Given the description of an element on the screen output the (x, y) to click on. 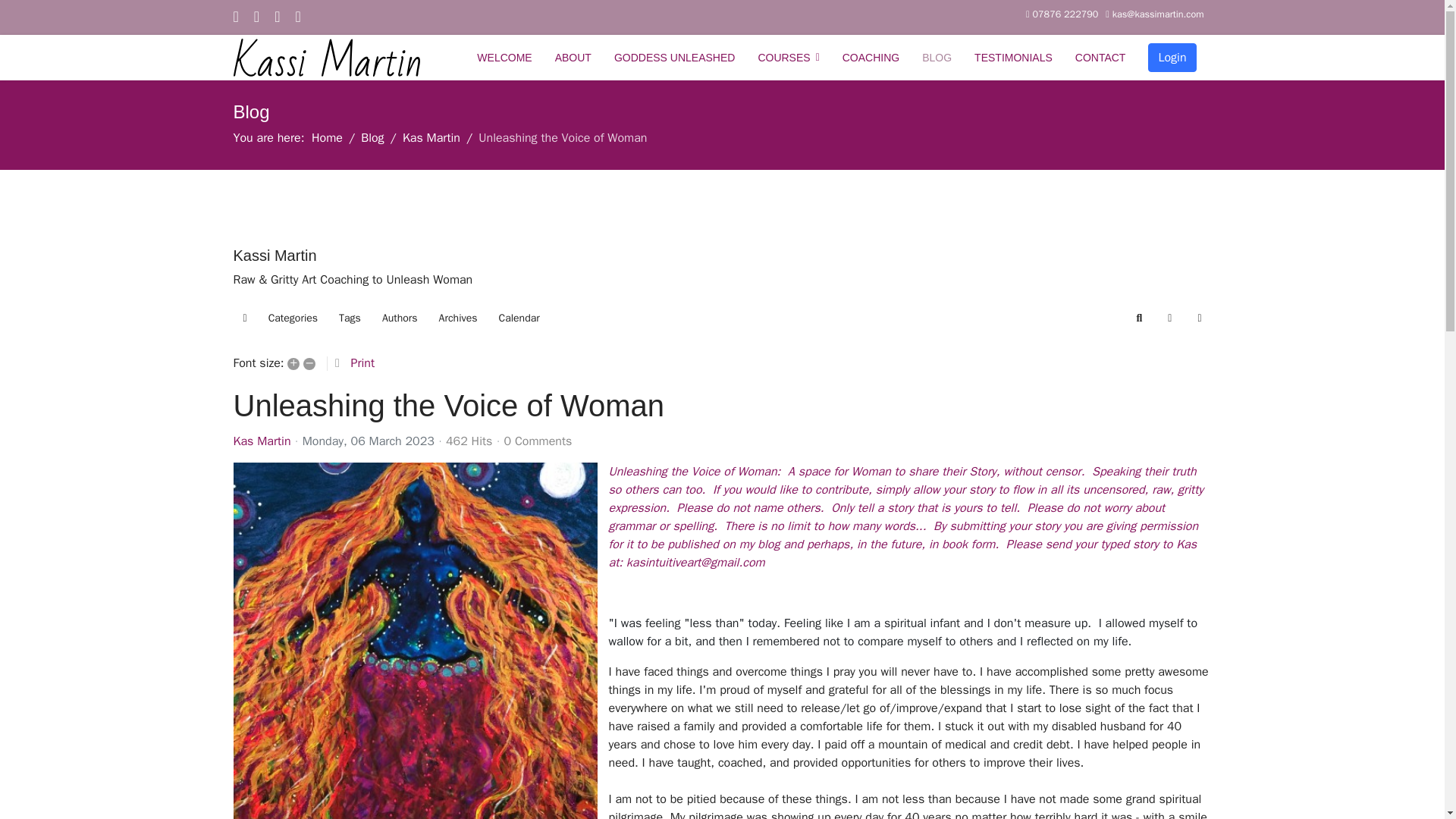
Login (1171, 57)
WELCOME (504, 57)
TESTIMONIALS (1013, 57)
Categories (293, 317)
07876 222790 (1065, 14)
Home (326, 137)
Archives (458, 317)
COURSES (787, 57)
Authors (400, 317)
Archives (458, 317)
